Given the description of an element on the screen output the (x, y) to click on. 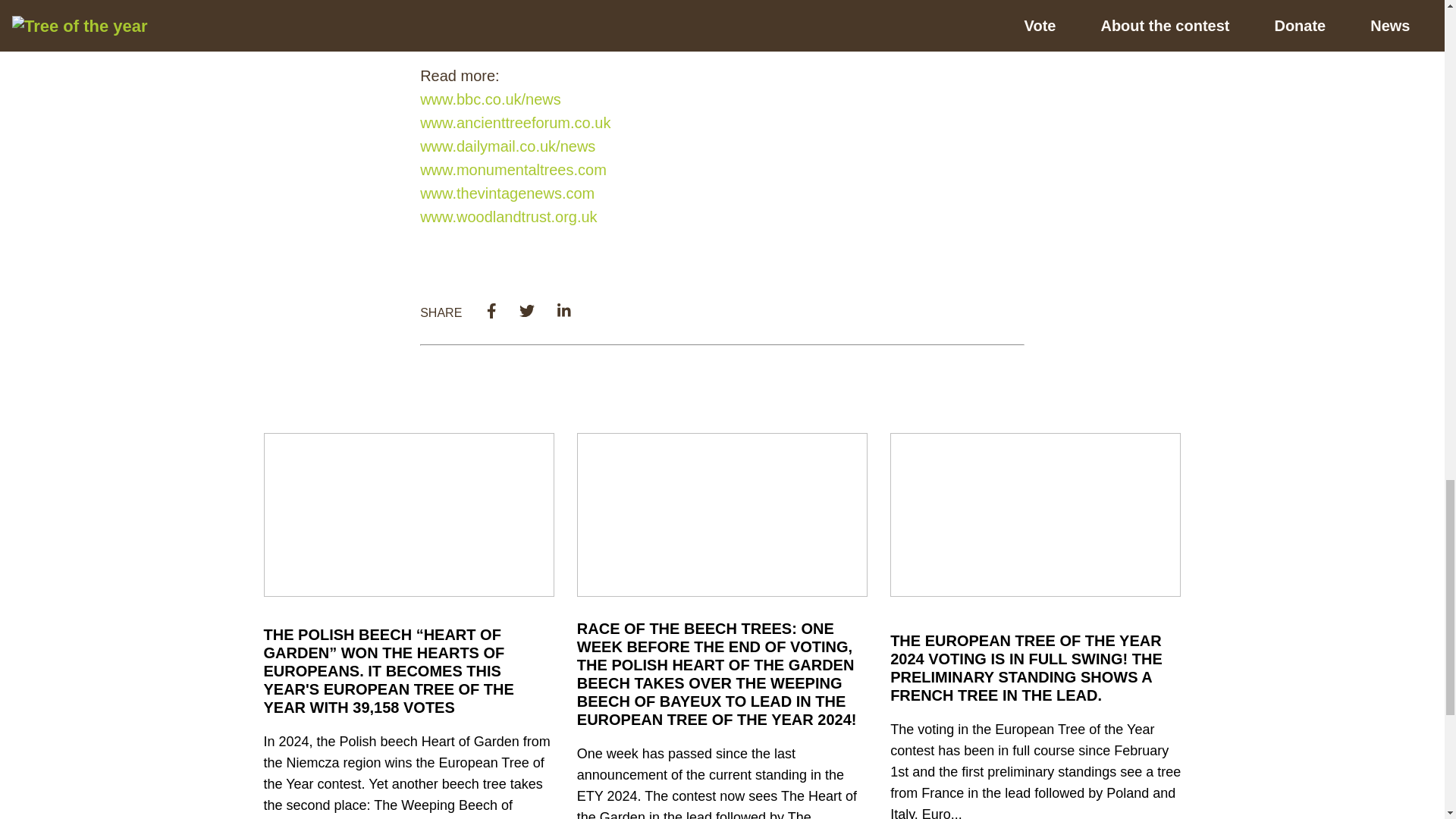
www.ancienttreeforum.co.uk (515, 122)
www.thevintagenews.com (507, 193)
www.monumentaltrees.com (513, 169)
www.woodlandtrust.org.uk (508, 216)
